Given the description of an element on the screen output the (x, y) to click on. 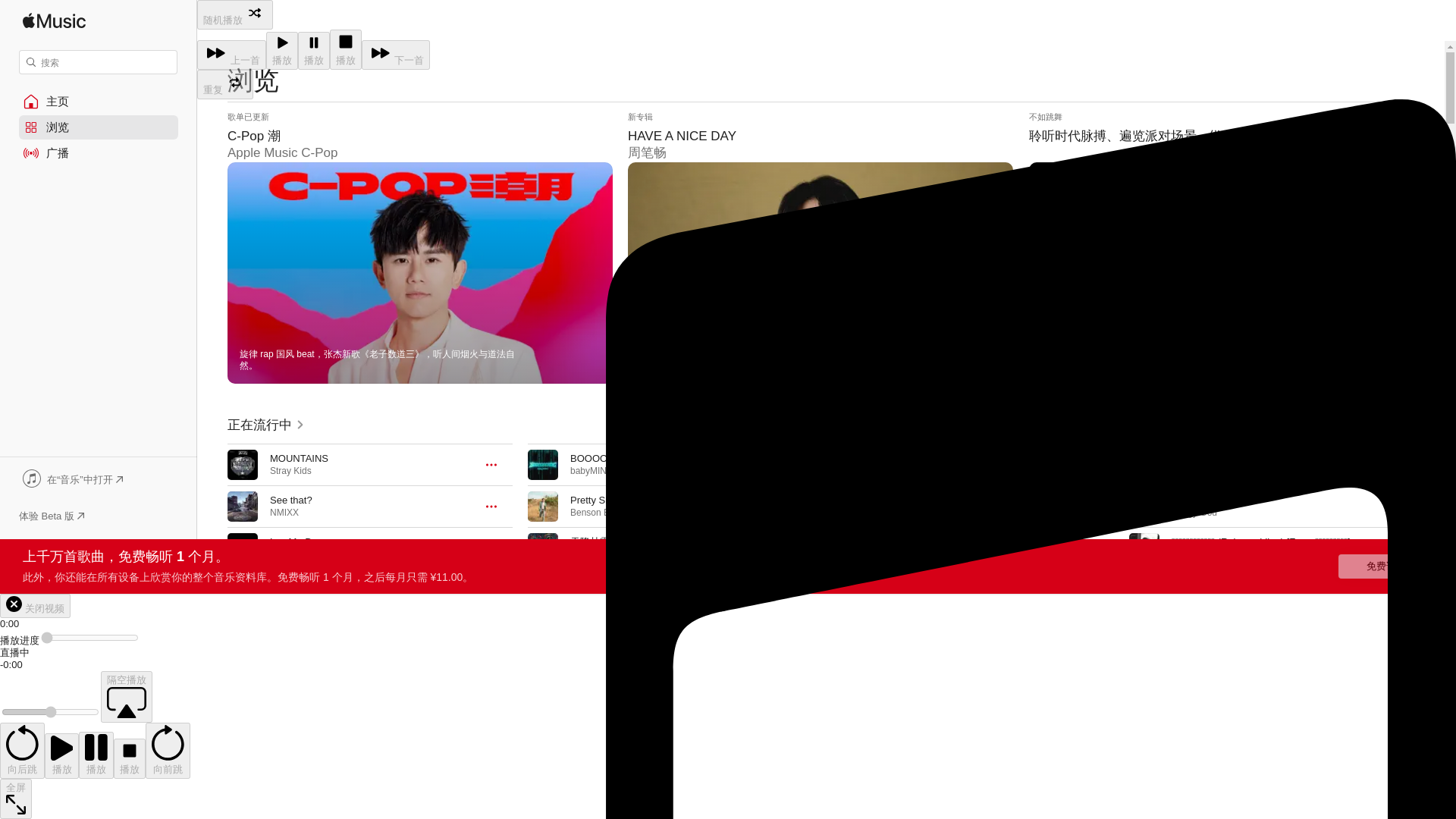
Stray Kids (290, 470)
IZA (333, 553)
NMIXX (283, 511)
MOUNTAINS (299, 458)
Sam Smith (291, 553)
Lay Me Down (299, 541)
See that? (291, 500)
HAVE A NICE DAY (820, 247)
